Given the description of an element on the screen output the (x, y) to click on. 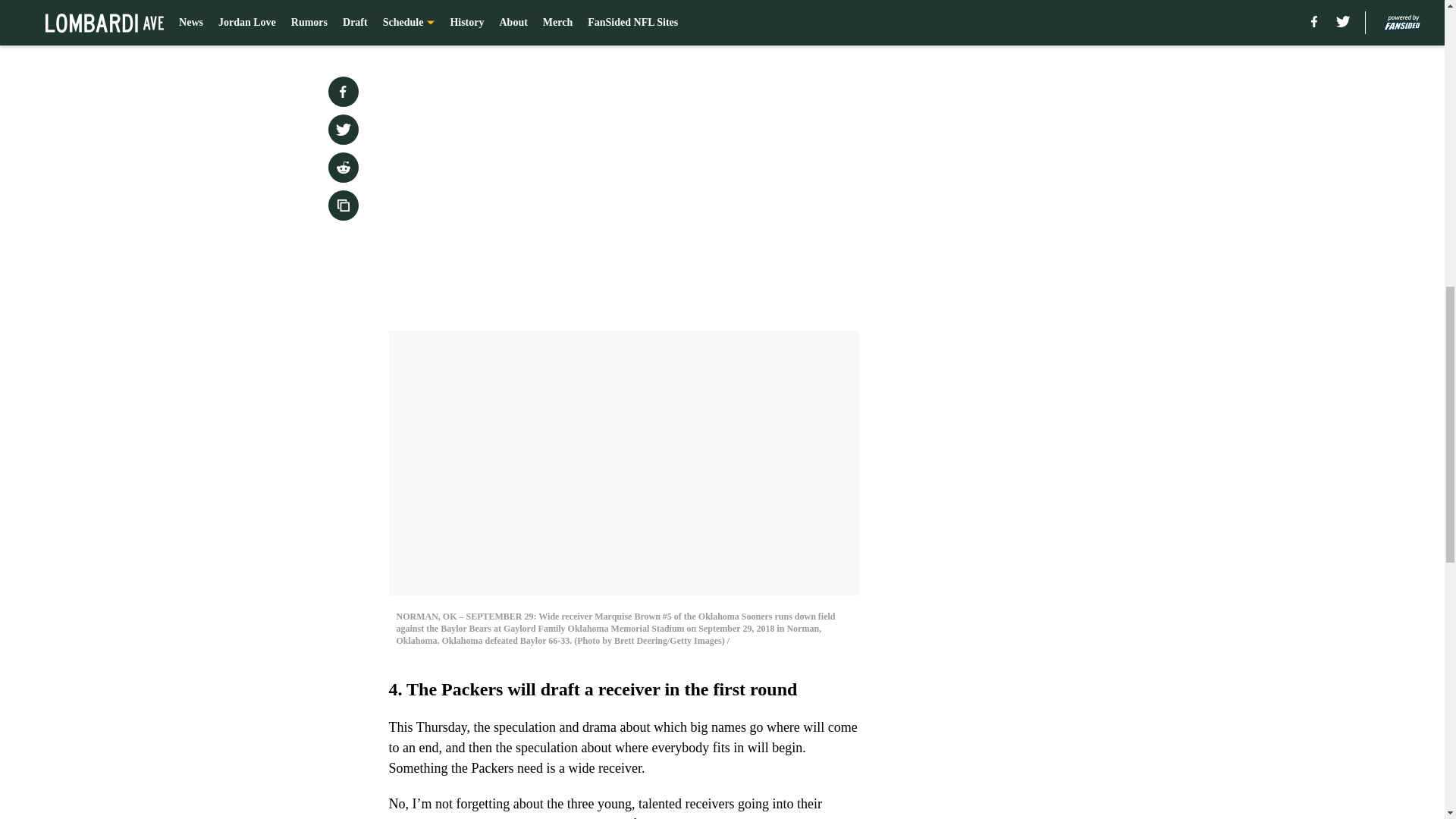
Prev (433, 20)
Next (813, 20)
